Given the description of an element on the screen output the (x, y) to click on. 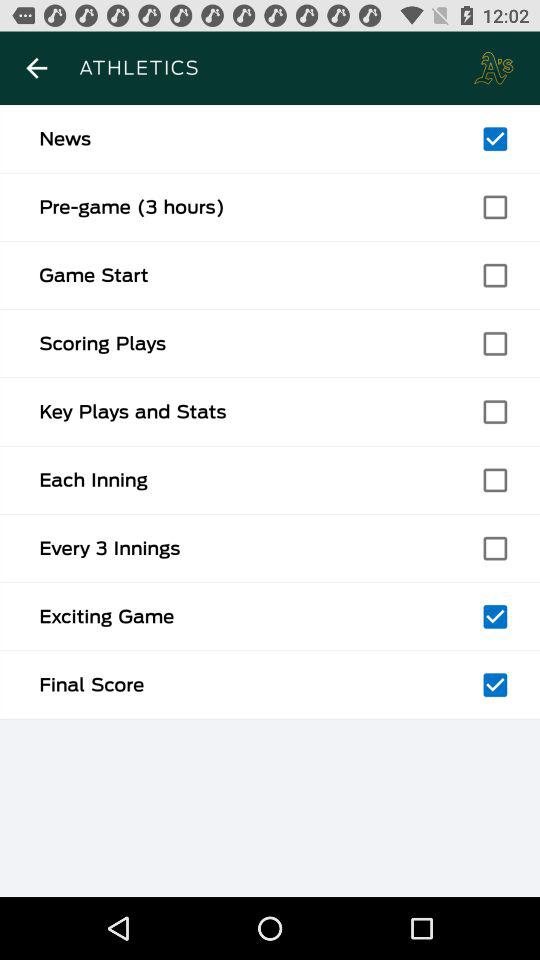
toggle pre-game notifications (495, 207)
